Given the description of an element on the screen output the (x, y) to click on. 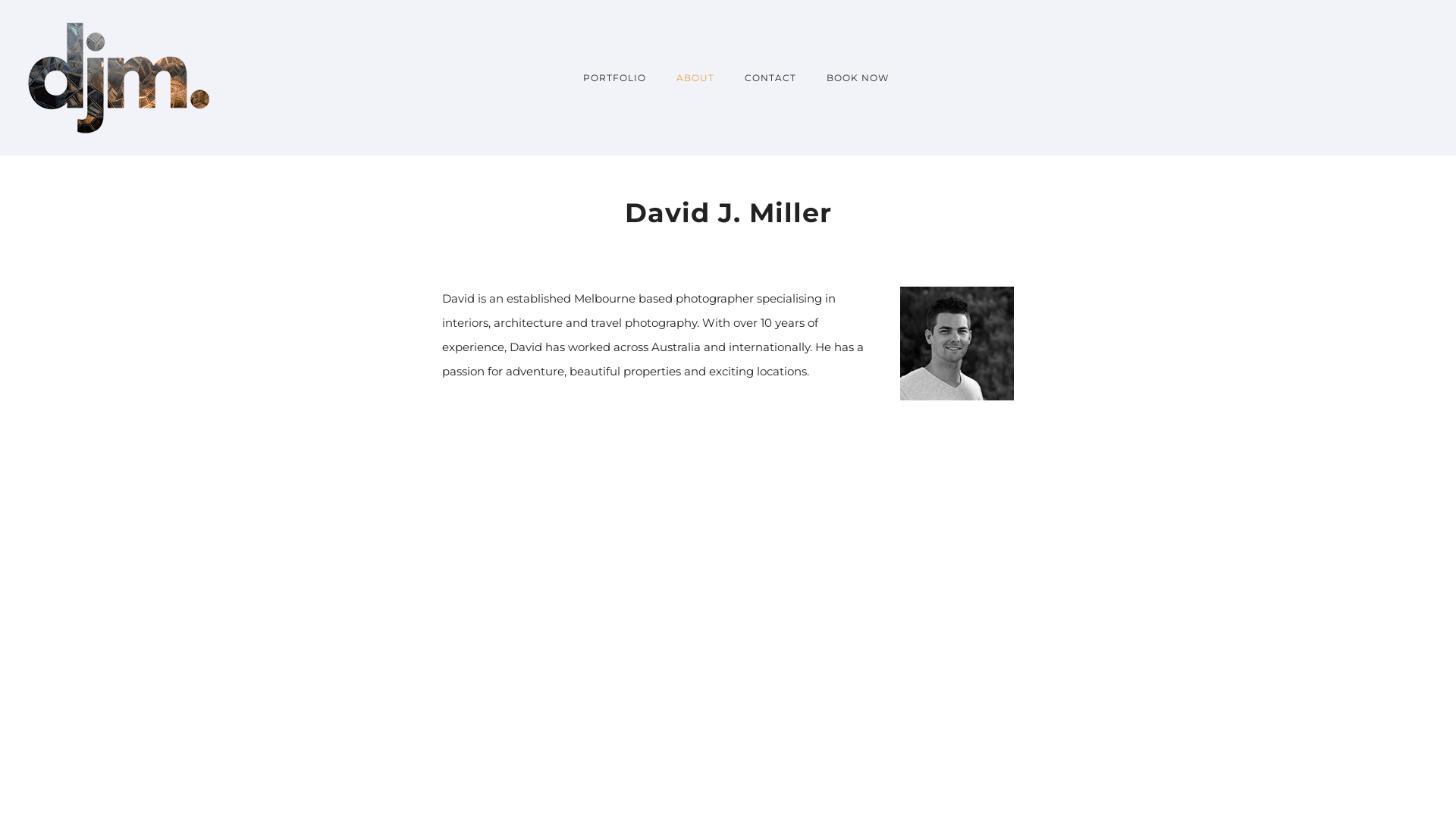
ABOUT Element type: text (695, 77)
BOOK NOW Element type: text (849, 77)
CONTACT Element type: text (770, 77)
PORTFOLIO Element type: text (613, 77)
